Given the description of an element on the screen output the (x, y) to click on. 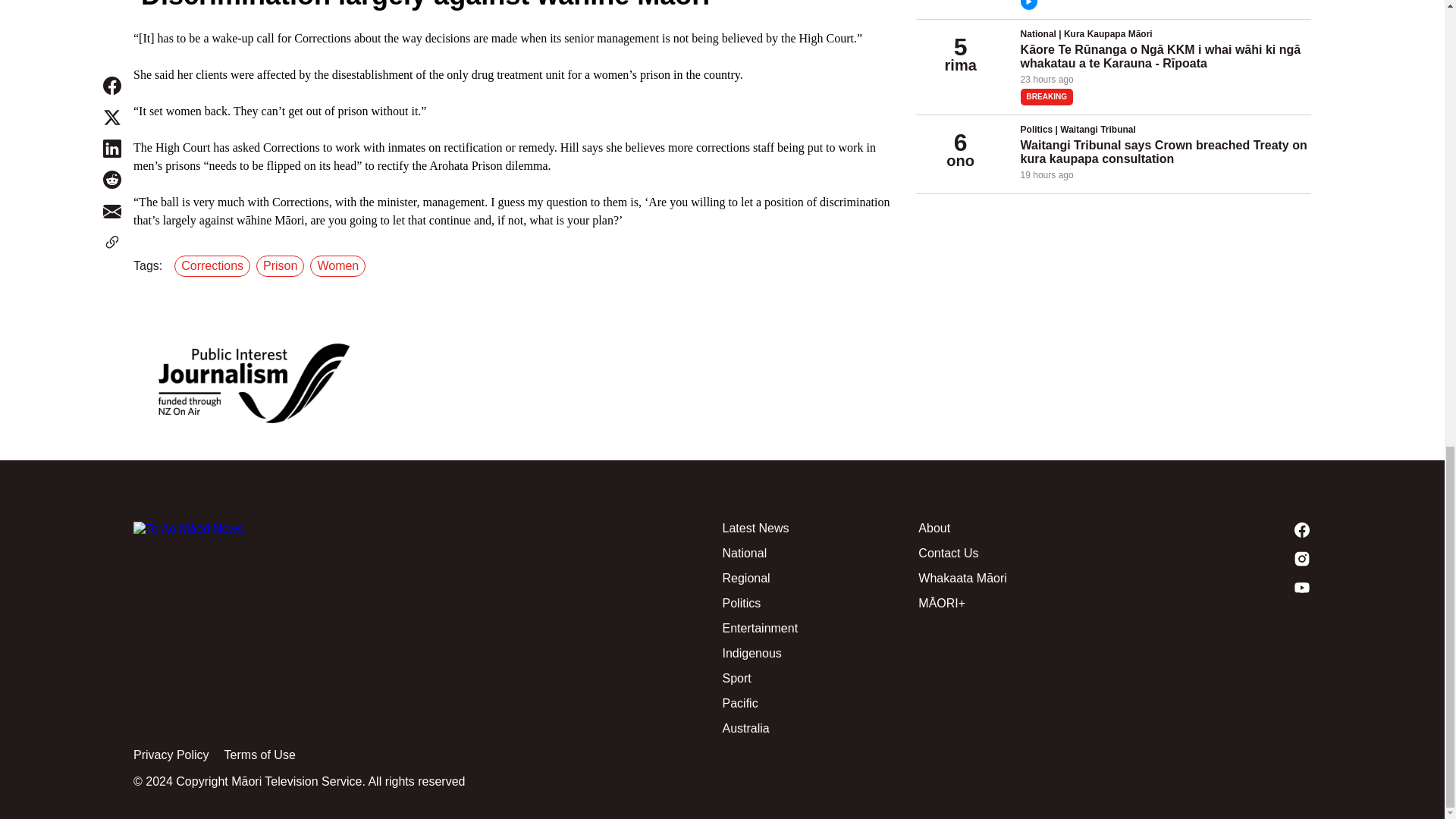
Instagram (1213, 558)
Prison (283, 265)
Corrections (215, 265)
Facebook (1213, 529)
Women (340, 265)
Youtube (1213, 587)
